Given the description of an element on the screen output the (x, y) to click on. 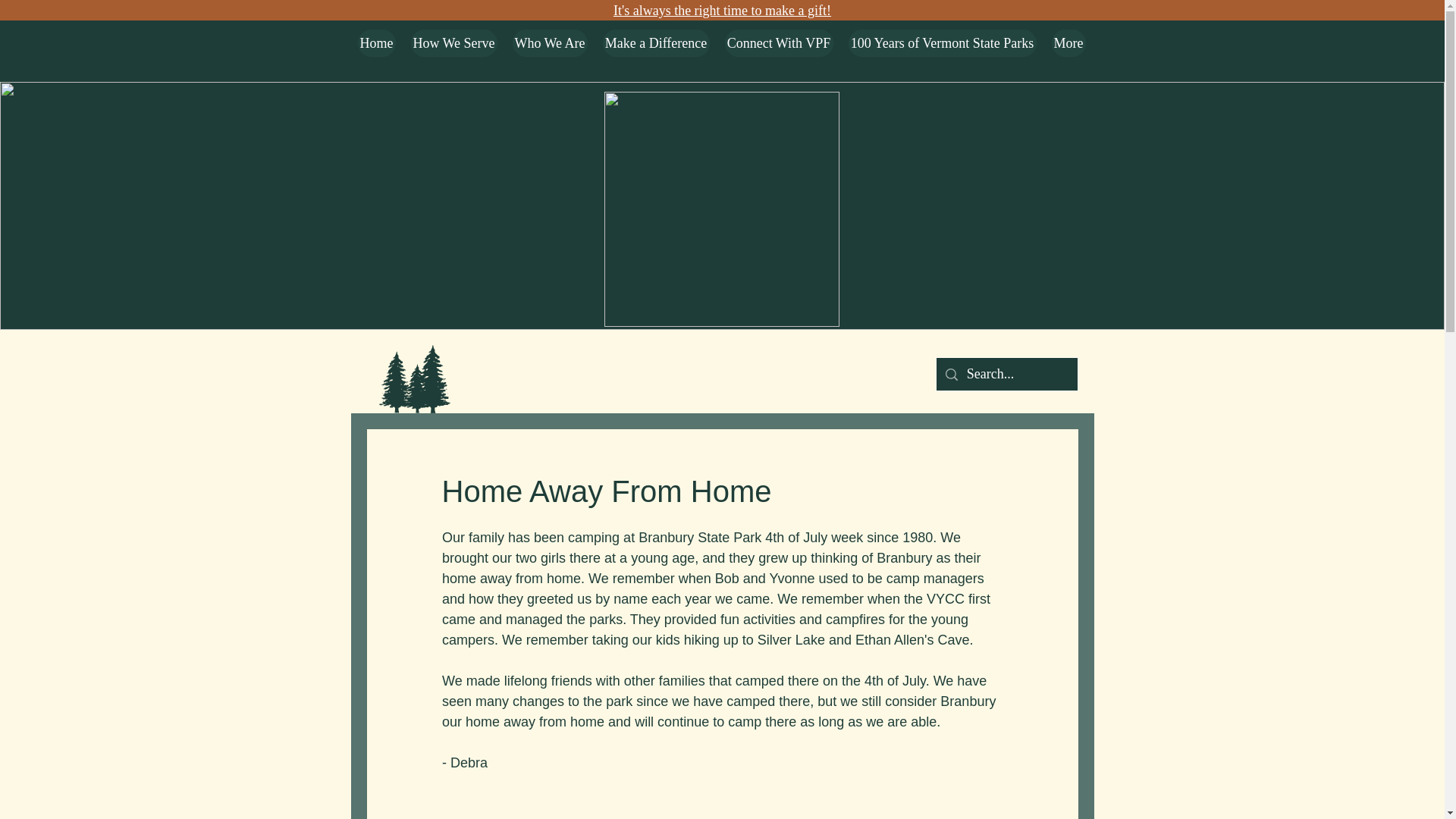
Who We Are (550, 42)
How We Serve (453, 42)
Home (377, 42)
Make a Difference (655, 42)
It's always the right time to make a gift! (721, 10)
Connect With VPF (778, 42)
100 Years of Vermont State Parks (941, 42)
